Given the description of an element on the screen output the (x, y) to click on. 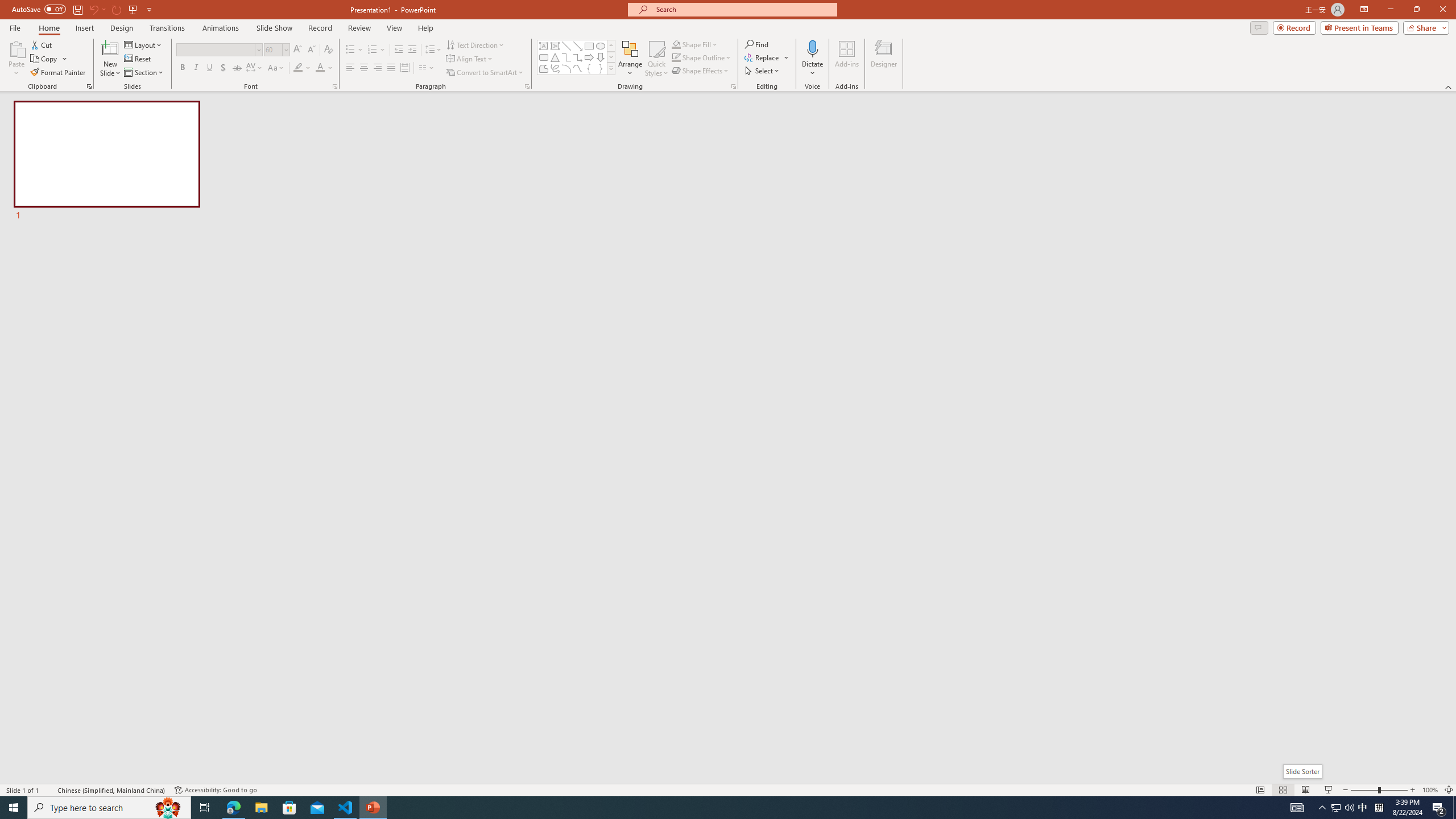
Accessibility Checker Accessibility: Good to go (216, 790)
Left Brace (589, 68)
